Given the description of an element on the screen output the (x, y) to click on. 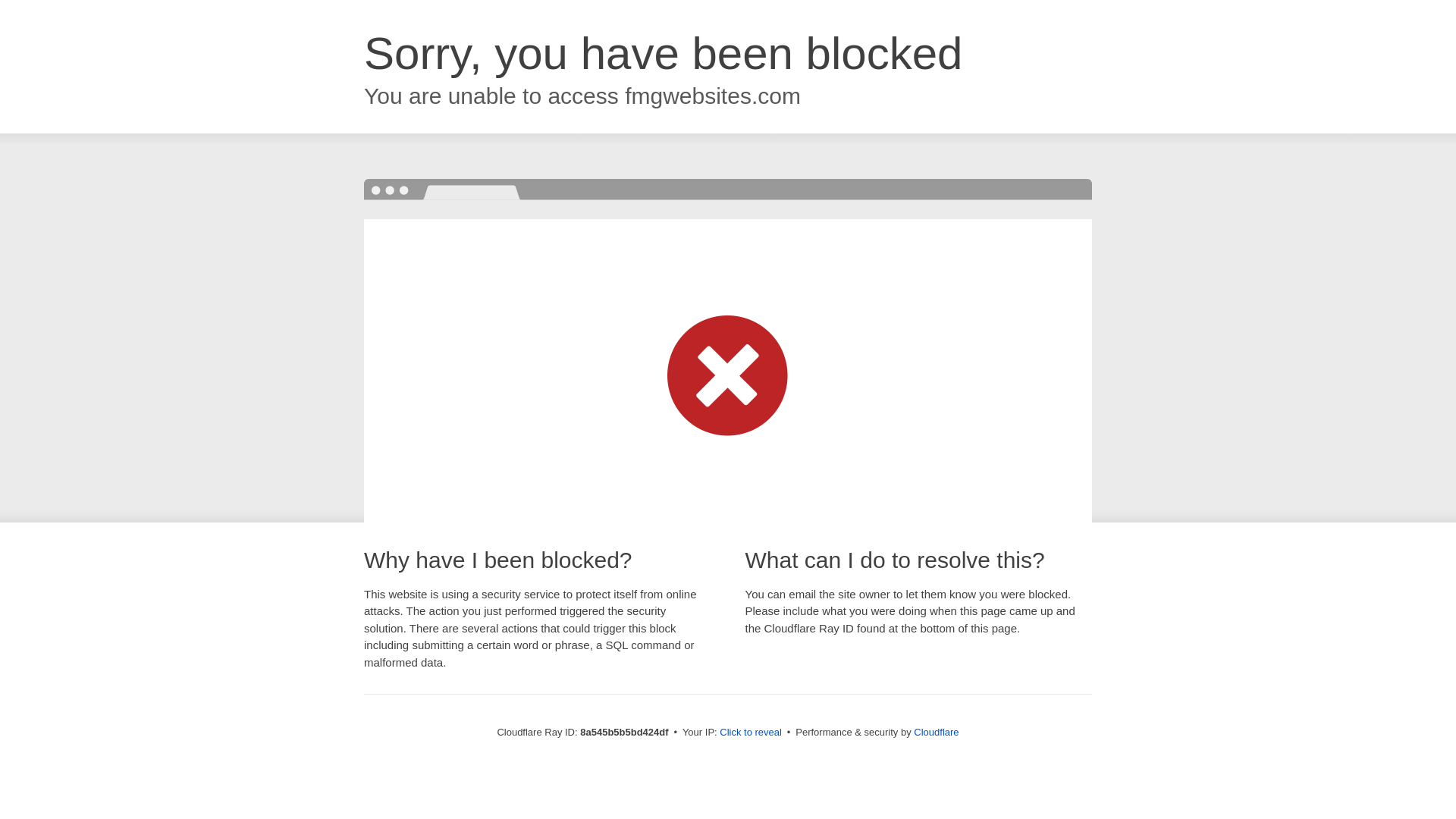
Click to reveal (750, 732)
Cloudflare (936, 731)
